Given the description of an element on the screen output the (x, y) to click on. 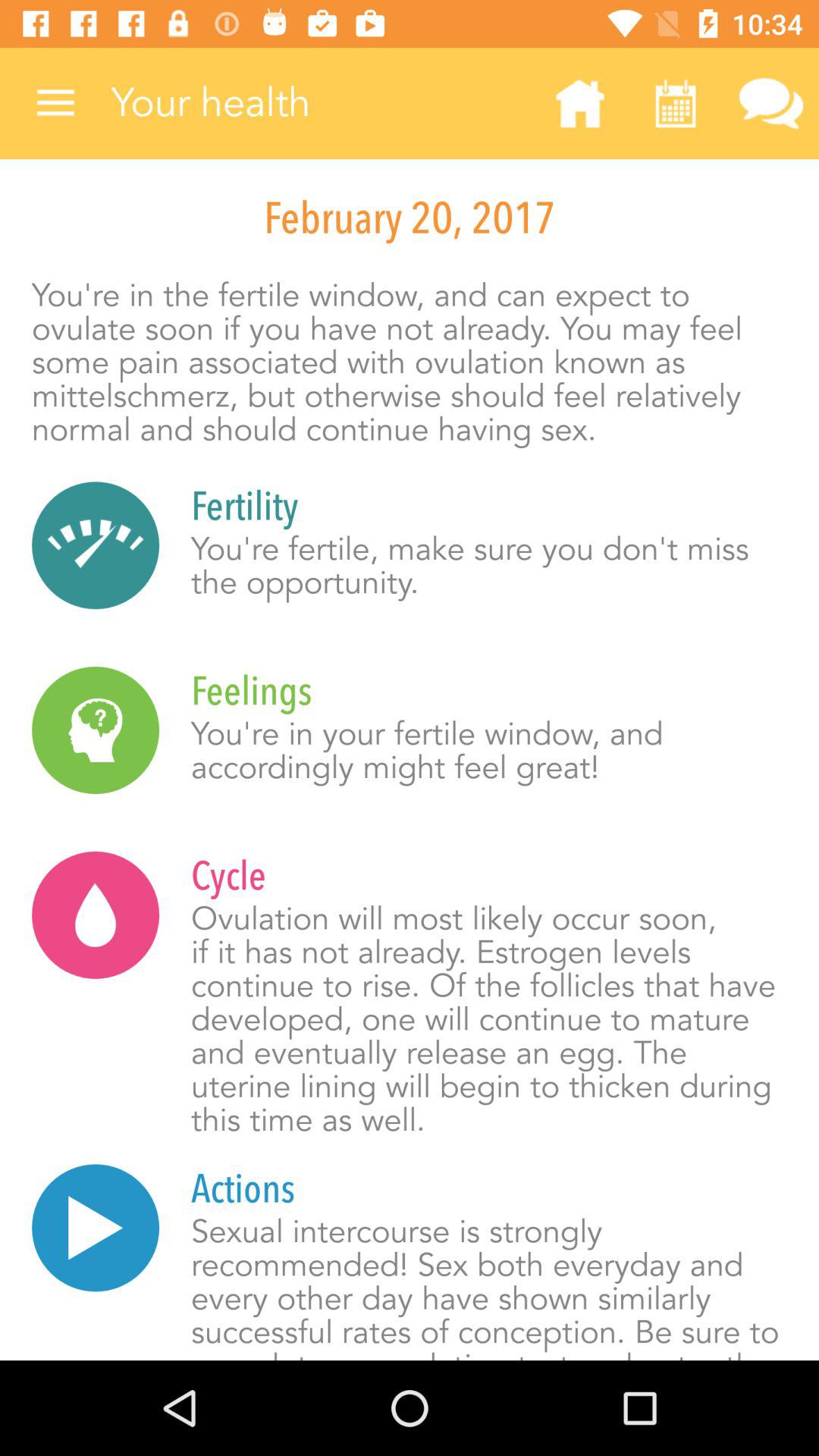
turn off item above february 20, 2017 item (55, 103)
